Given the description of an element on the screen output the (x, y) to click on. 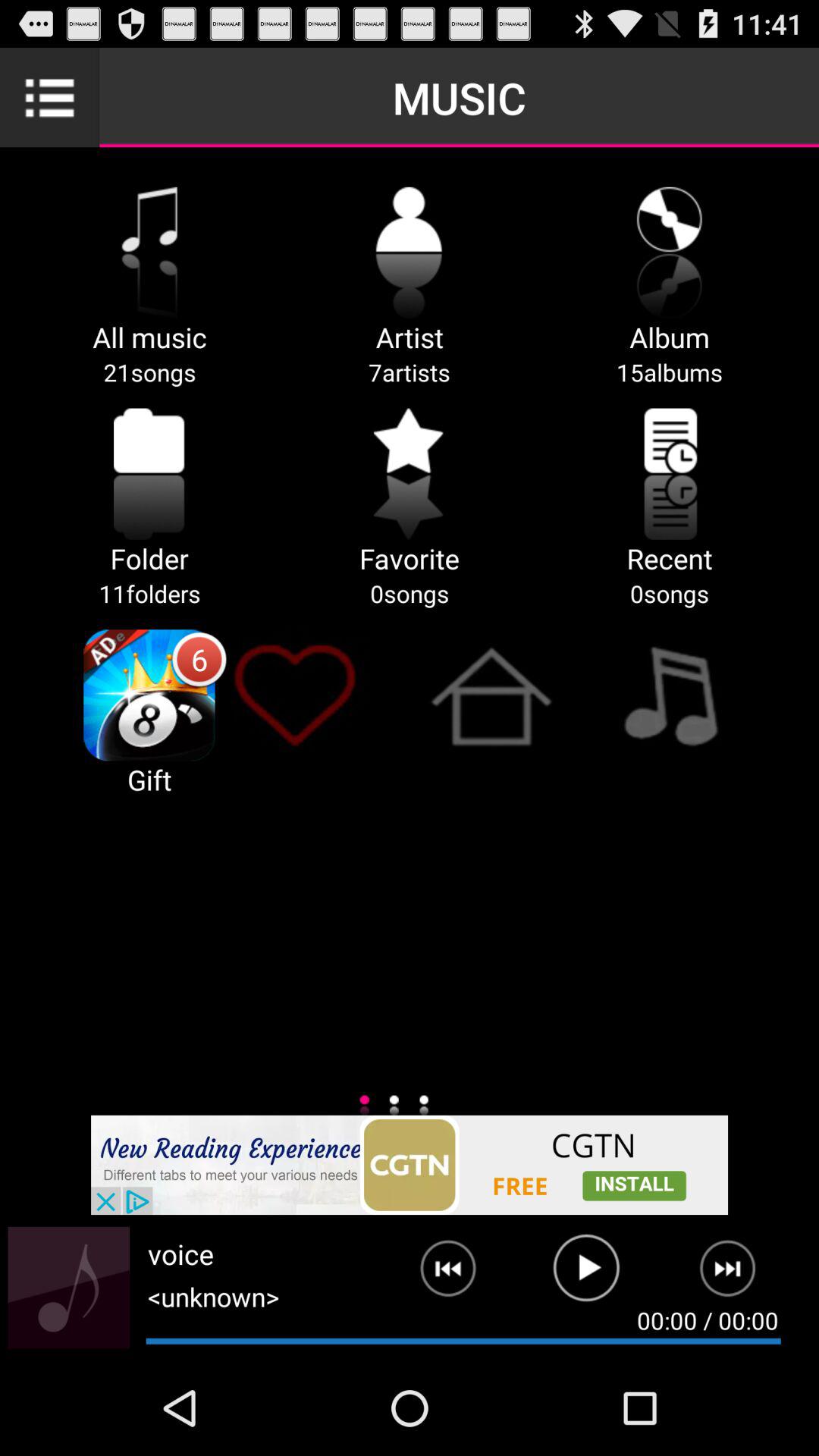
playing the record of voice (586, 1274)
